Given the description of an element on the screen output the (x, y) to click on. 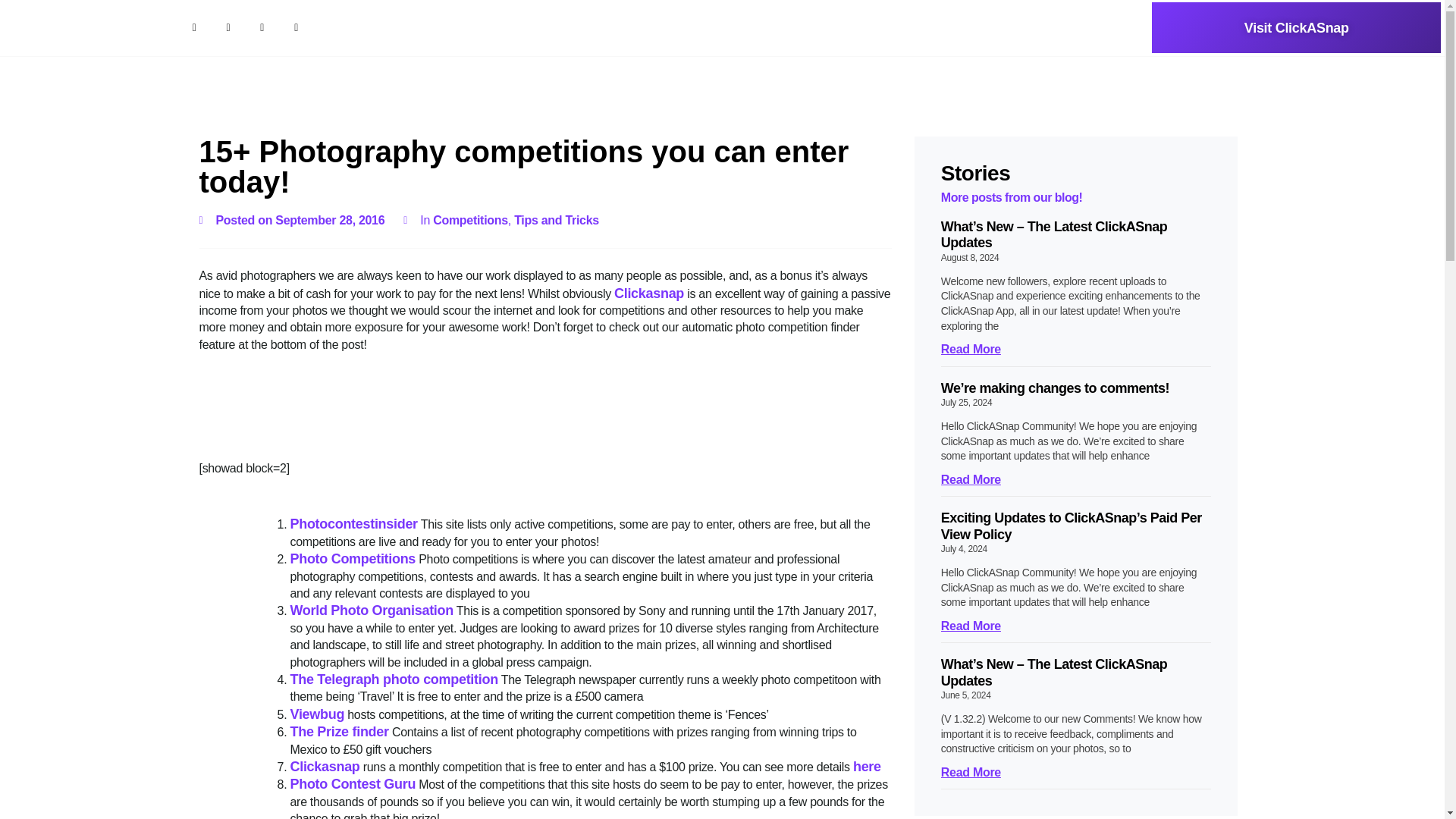
The Telegraph photo competition (393, 679)
World Photo Organisation (370, 610)
Visit ClickASnap (1296, 27)
Tips and Tricks (555, 219)
Photocontestinsider (352, 523)
Competitions (470, 219)
Posted on September 28, 2016 (291, 220)
Clickasnap (324, 766)
Viewbug (316, 713)
Photo Contest Guru (351, 783)
